Given the description of an element on the screen output the (x, y) to click on. 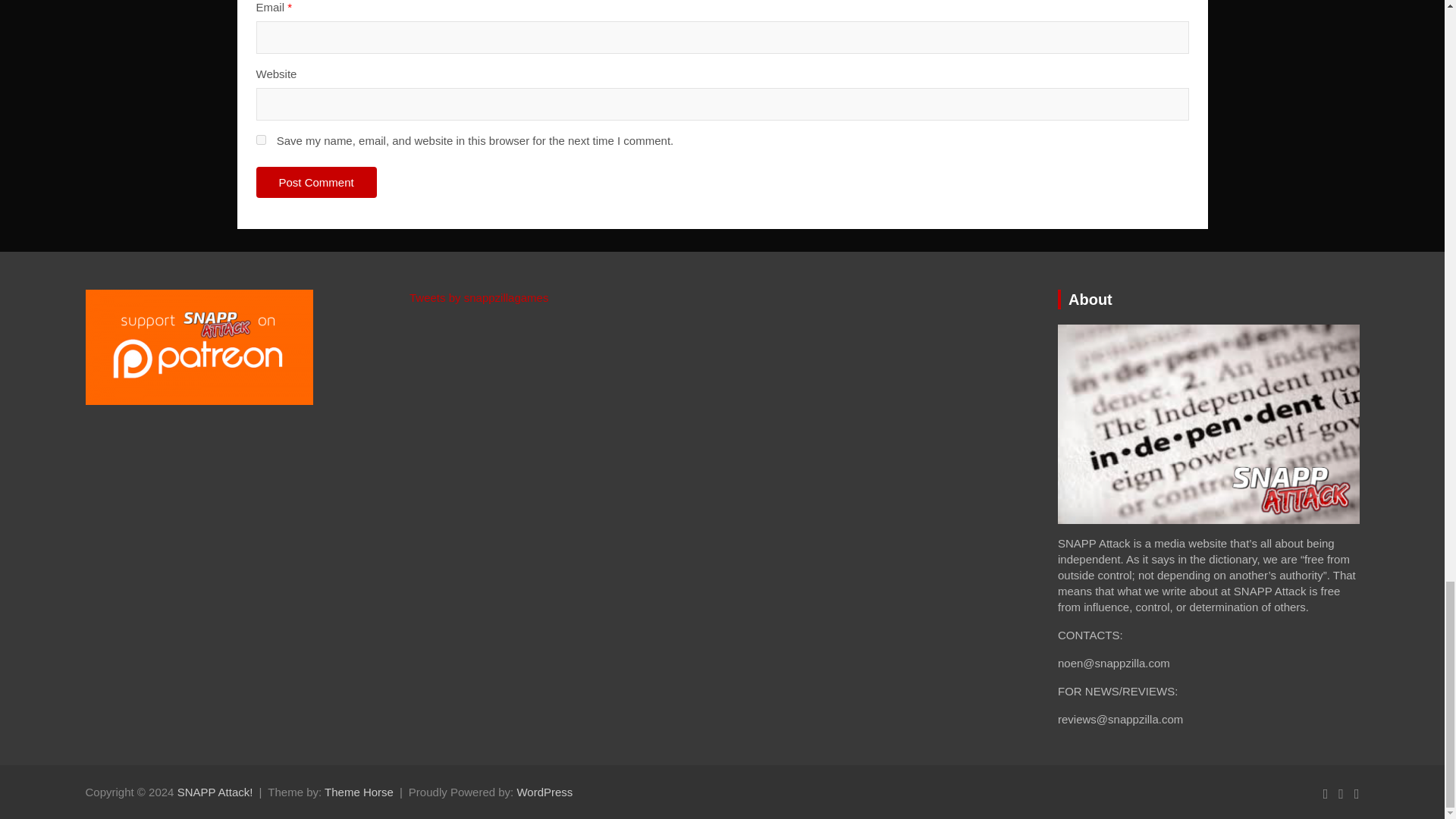
Tweets by snappzillagames (478, 297)
Post Comment (316, 182)
WordPress (544, 791)
yes (261, 139)
Theme Horse (358, 791)
SNAPP Attack! (215, 791)
Post Comment (316, 182)
